Given the description of an element on the screen output the (x, y) to click on. 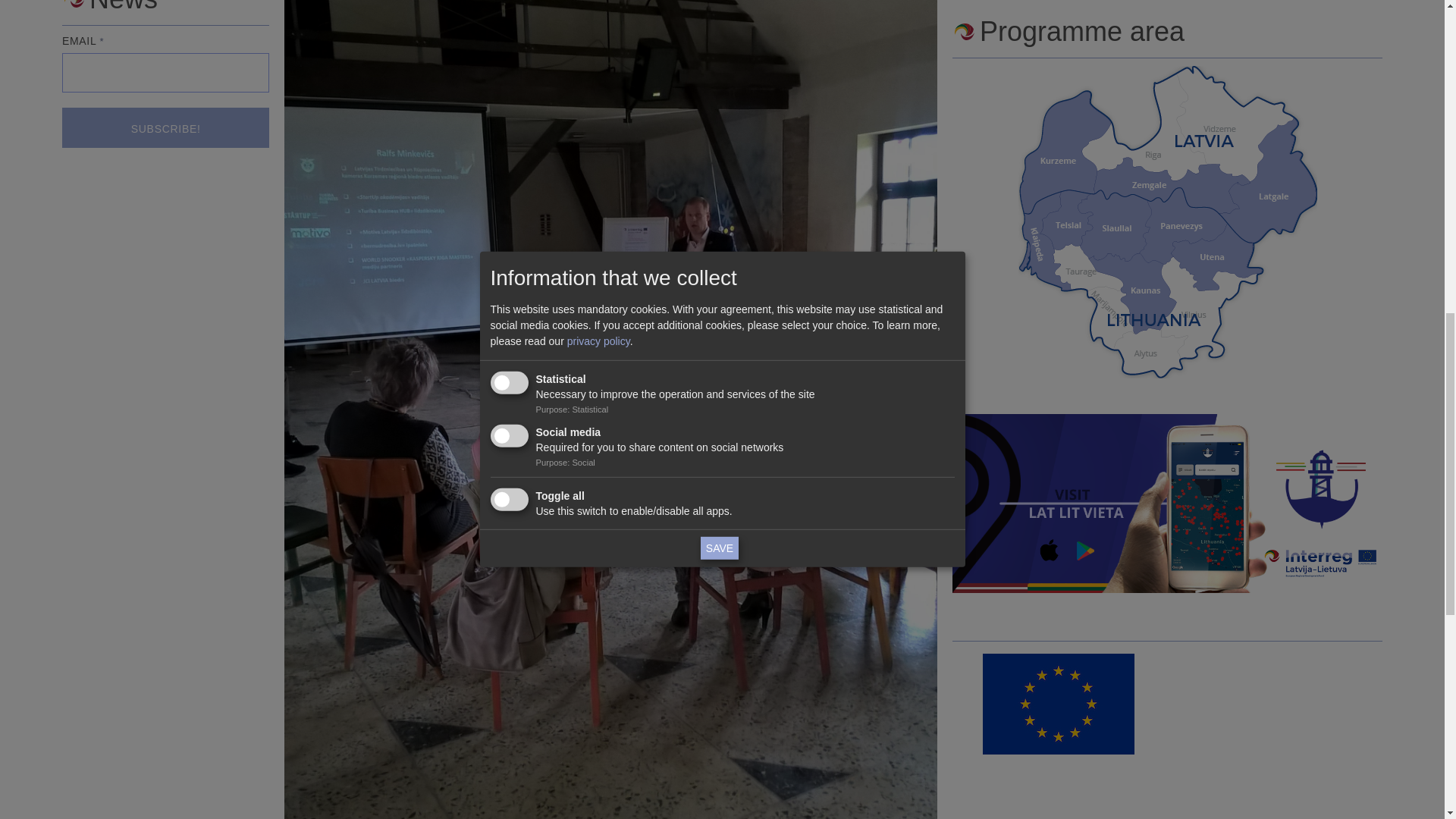
Email (165, 72)
Subscribe! (165, 127)
